Given the description of an element on the screen output the (x, y) to click on. 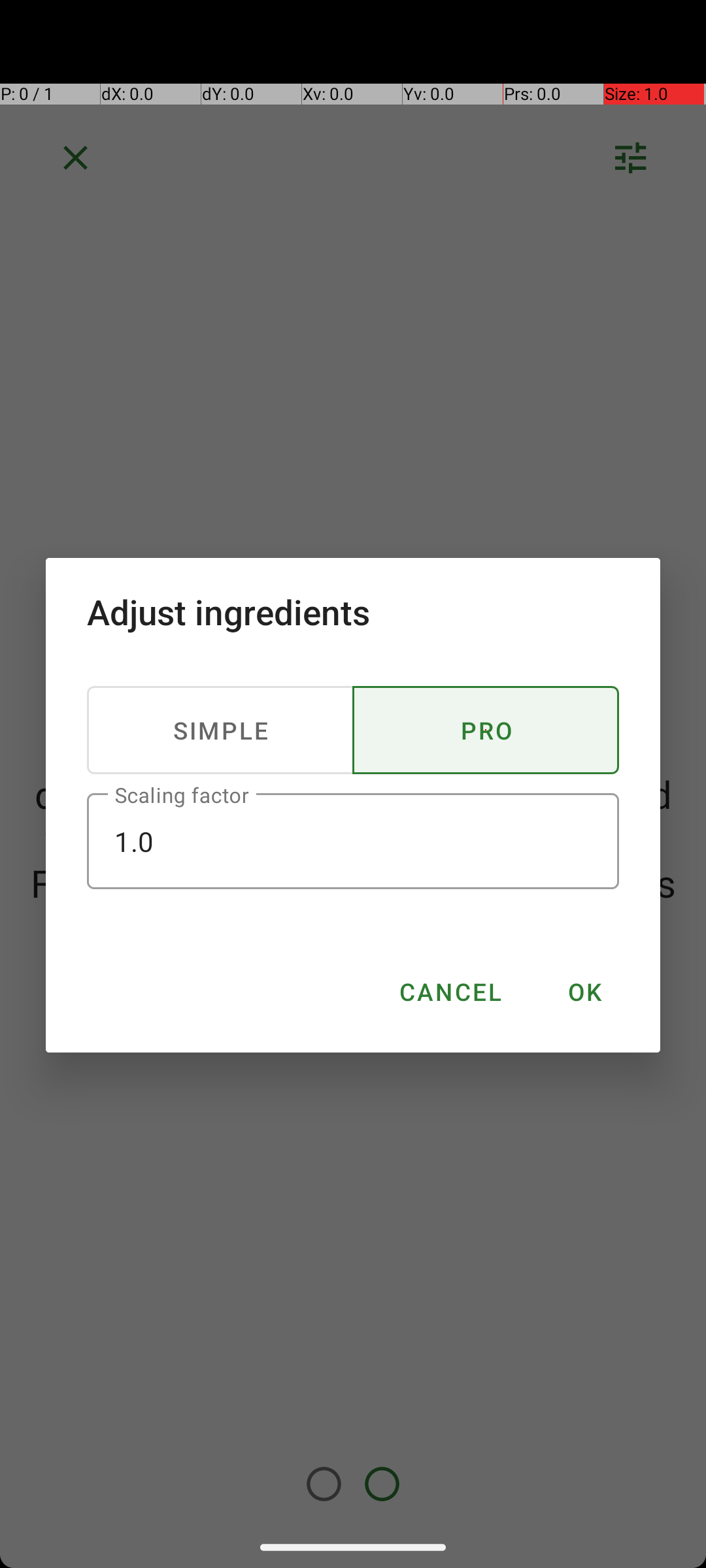
1.0 Element type: android.widget.EditText (352, 841)
